Given the description of an element on the screen output the (x, y) to click on. 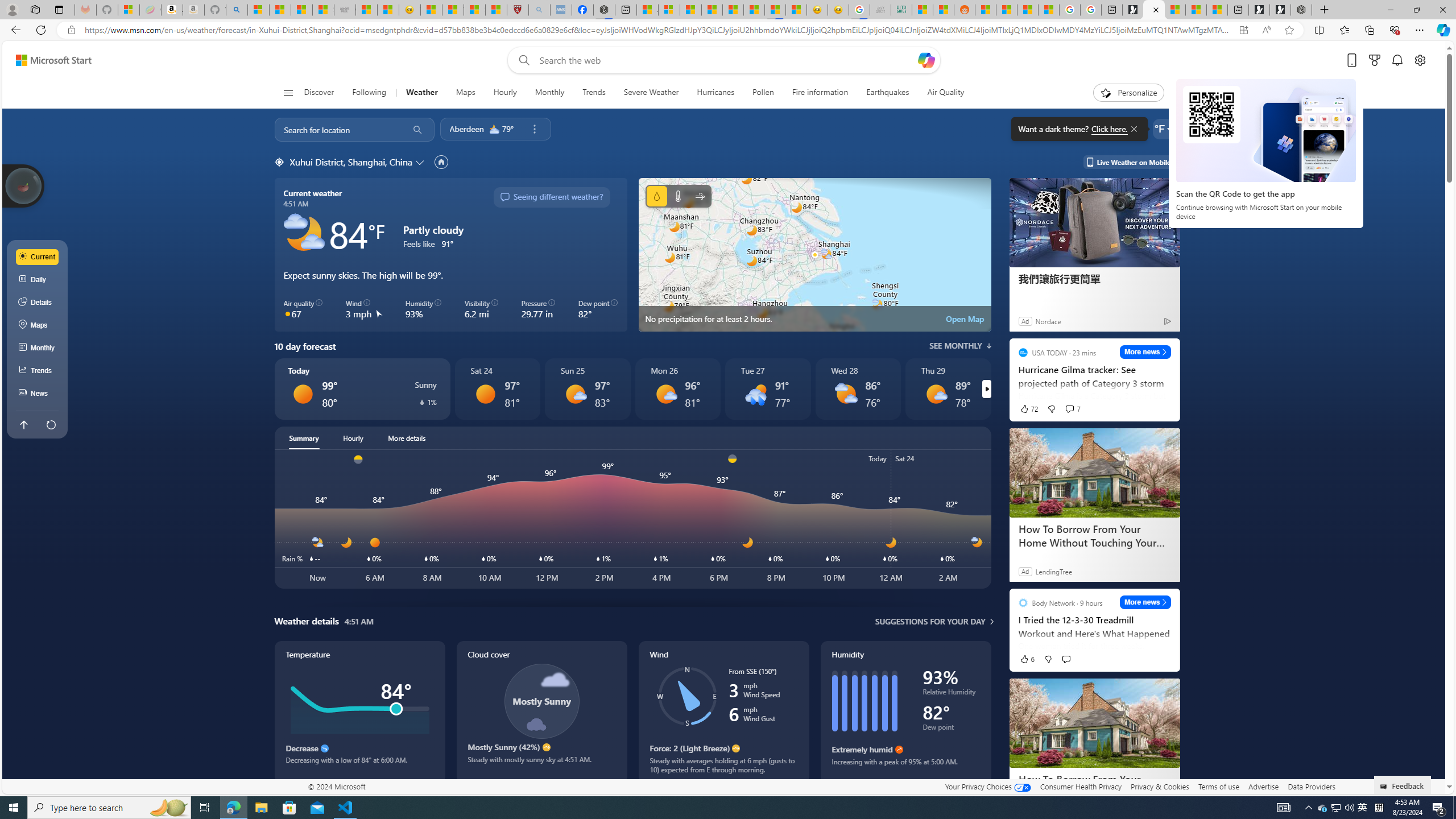
Class: BubbleMessageCloseIcon-DS-EntryPoint1-1 (1133, 128)
Precipitation (656, 195)
Temperature (359, 711)
Xuhui District, Shanghai, China (350, 161)
Pollen (763, 92)
Aberdeen (466, 129)
Monthly (549, 92)
Severe Weather (651, 92)
